Given the description of an element on the screen output the (x, y) to click on. 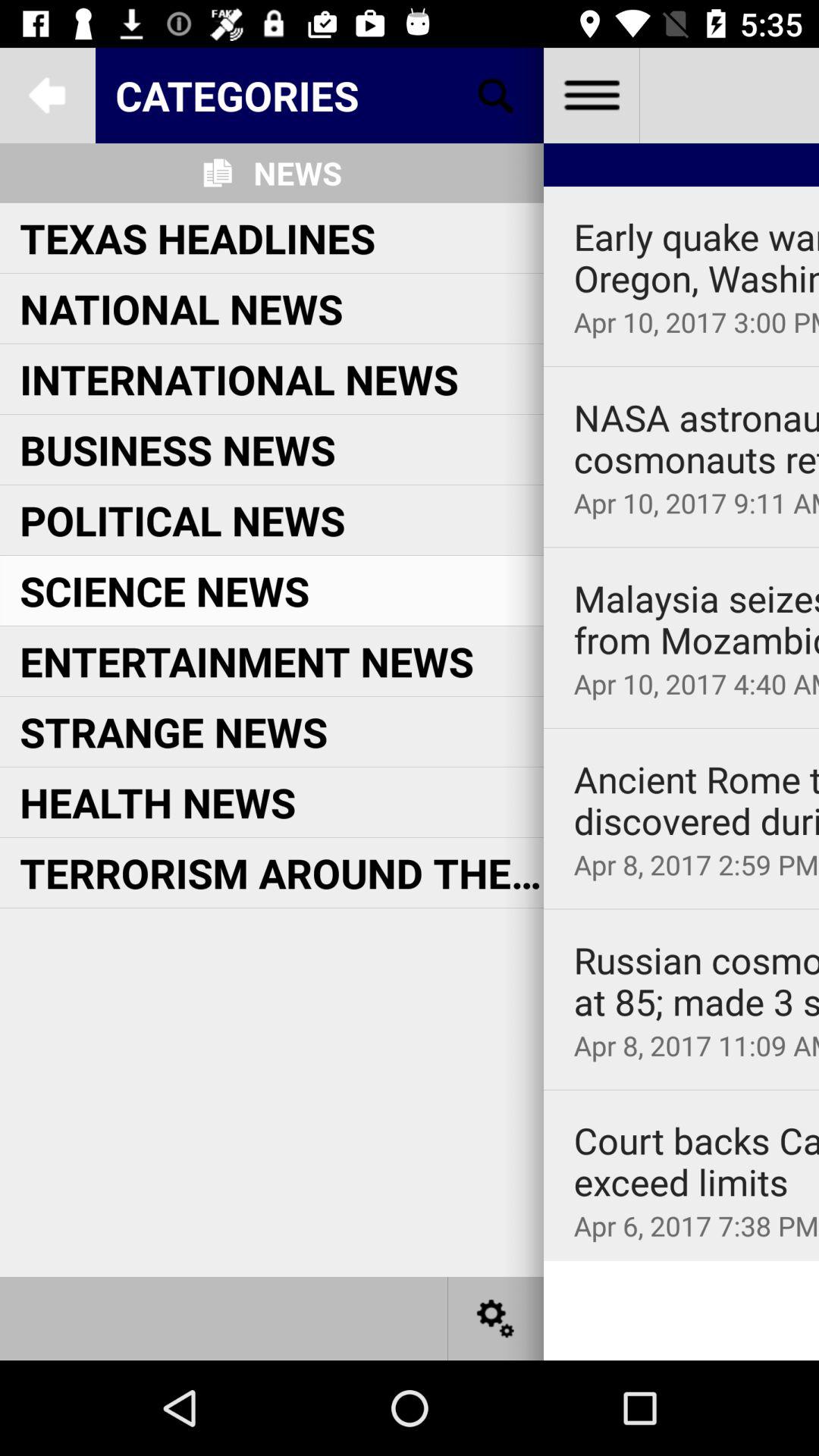
swipe to malaysia seizes 18 app (696, 619)
